Given the description of an element on the screen output the (x, y) to click on. 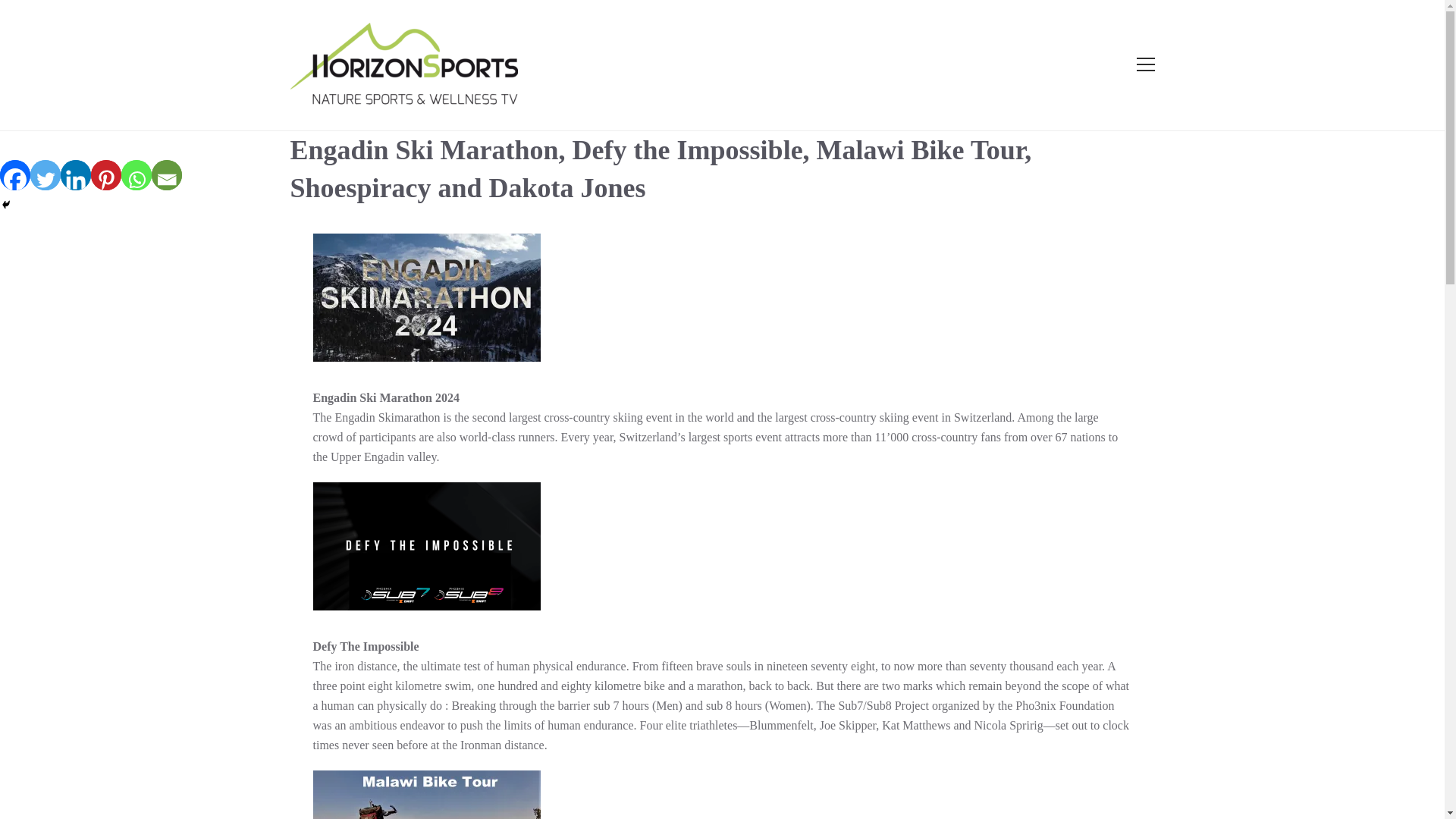
Linkedin (75, 174)
Hide (5, 204)
Facebook (15, 174)
Whatsapp (135, 174)
Email (166, 174)
Twitter (45, 174)
logo-horizonsports-transp-300.png (402, 64)
Pinterest (105, 174)
